Given the description of an element on the screen output the (x, y) to click on. 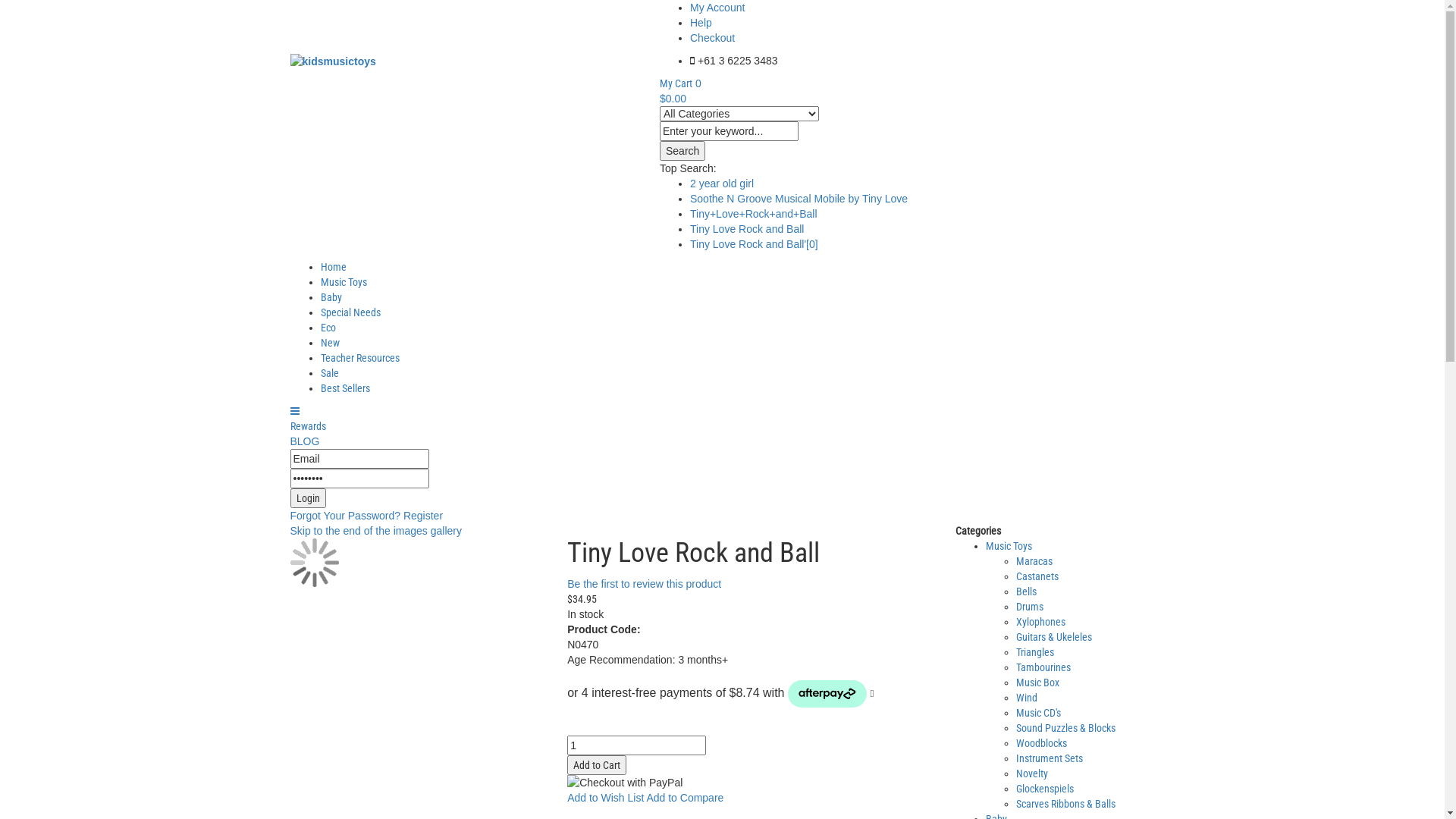
Email Element type: hover (358, 458)
Forgot Your Password? Element type: text (344, 515)
kidsmusictoys Element type: hover (332, 60)
Special Needs Element type: text (349, 312)
My Cart 0
$0.00 Element type: text (906, 91)
Rewards Element type: text (307, 426)
Skip to the end of the images gallery Element type: text (375, 530)
Music CD's Element type: text (1038, 712)
Best Sellers Element type: text (344, 388)
Bells Element type: text (1026, 591)
Qty Element type: hover (636, 745)
Checkout Element type: text (712, 37)
2 year old girl Element type: text (721, 183)
Instrument Sets Element type: text (1049, 758)
New Element type: text (329, 342)
Checkout with PayPal Element type: hover (624, 782)
Login Element type: text (307, 498)
Register Element type: text (422, 515)
Teacher Resources Element type: text (359, 357)
Tiny Love Rock and Ball Element type: text (746, 228)
Guitars & Ukeleles Element type: text (1054, 636)
Woodblocks Element type: text (1041, 743)
Baby Element type: text (330, 297)
Tiny+Love+Rock+and+Ball Element type: text (753, 213)
Triangles Element type: text (1035, 652)
Tiny Love Rock and Ball'[0] Element type: text (754, 244)
Drums Element type: text (1029, 606)
Music Box Element type: text (1037, 682)
Categories Element type: hover (293, 410)
Add to Wish List Element type: text (605, 797)
Novelty Element type: text (1032, 773)
Add to Compare Element type: text (684, 797)
Scarves Ribbons & Balls Element type: text (1065, 803)
BLOG Element type: text (304, 441)
Sale Element type: text (329, 373)
Castanets Element type: text (1037, 576)
Eco Element type: text (327, 327)
Glockenspiels Element type: text (1044, 788)
Wind Element type: text (1026, 697)
Music Toys Element type: text (1008, 545)
Sound Puzzles & Blocks Element type: text (1065, 727)
Be the first to review this product Element type: text (644, 583)
Soothe N Groove Musical Mobile by Tiny Love Element type: text (798, 198)
Music Toys Element type: text (343, 282)
My Account Element type: text (717, 7)
Maracas Element type: text (1034, 561)
Home Element type: text (332, 266)
Xylophones Element type: text (1040, 621)
Tambourines Element type: text (1043, 667)
Help Element type: text (701, 22)
Add to Cart Element type: text (596, 765)
Search Element type: text (682, 150)
Password Element type: hover (358, 478)
